Given the description of an element on the screen output the (x, y) to click on. 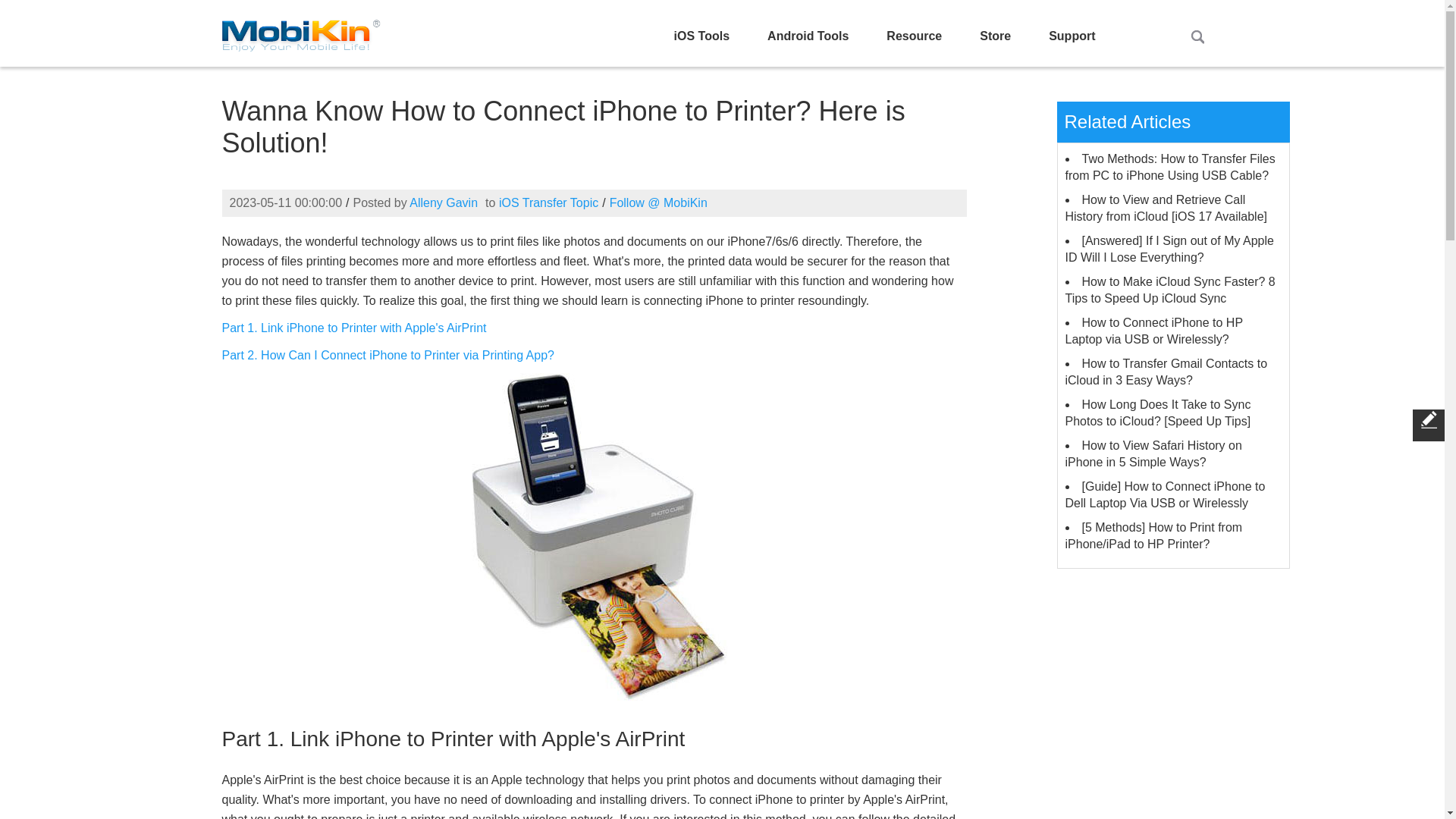
Part 1. Link iPhone to Printer with Apple's AirPrint (353, 327)
Alleny Gavin (443, 202)
iOS Tools (701, 36)
Home (300, 31)
Resource (914, 36)
Support (1071, 36)
Store (994, 36)
Android Tools (808, 36)
